Given the description of an element on the screen output the (x, y) to click on. 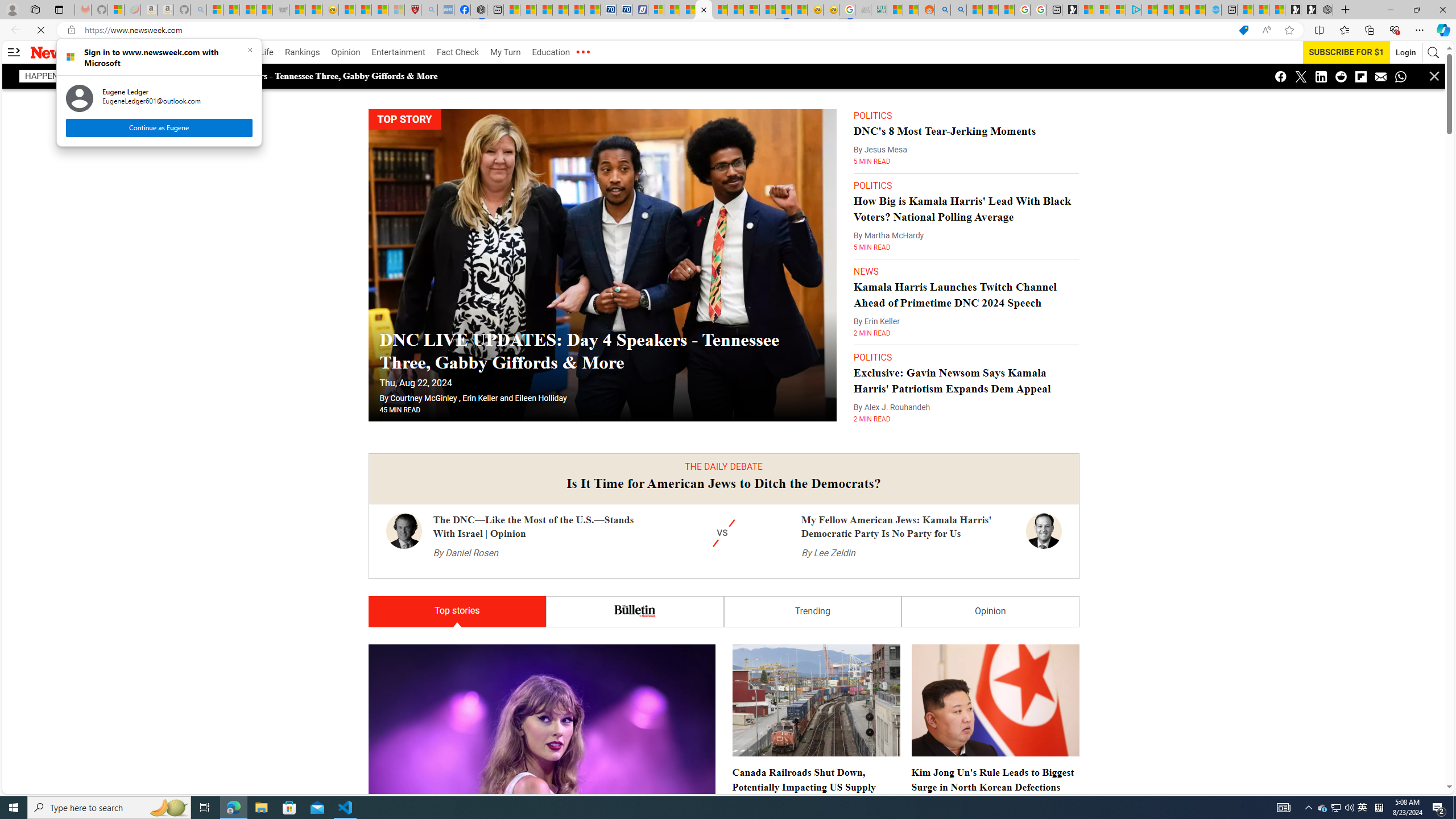
Trump Reacts to Potential RFK Jr Endorsement (807, 763)
Stocks - MSN (264, 9)
Show desktop (1454, 807)
Robert H. Shmerling, MD - Harvard Health (413, 9)
Cheap Hotels - Save70.com (1335, 807)
AutomationID: side-arrow (624, 9)
Class: icon-reddit (13, 51)
AutomationID: search-btn (1340, 75)
